Given the description of an element on the screen output the (x, y) to click on. 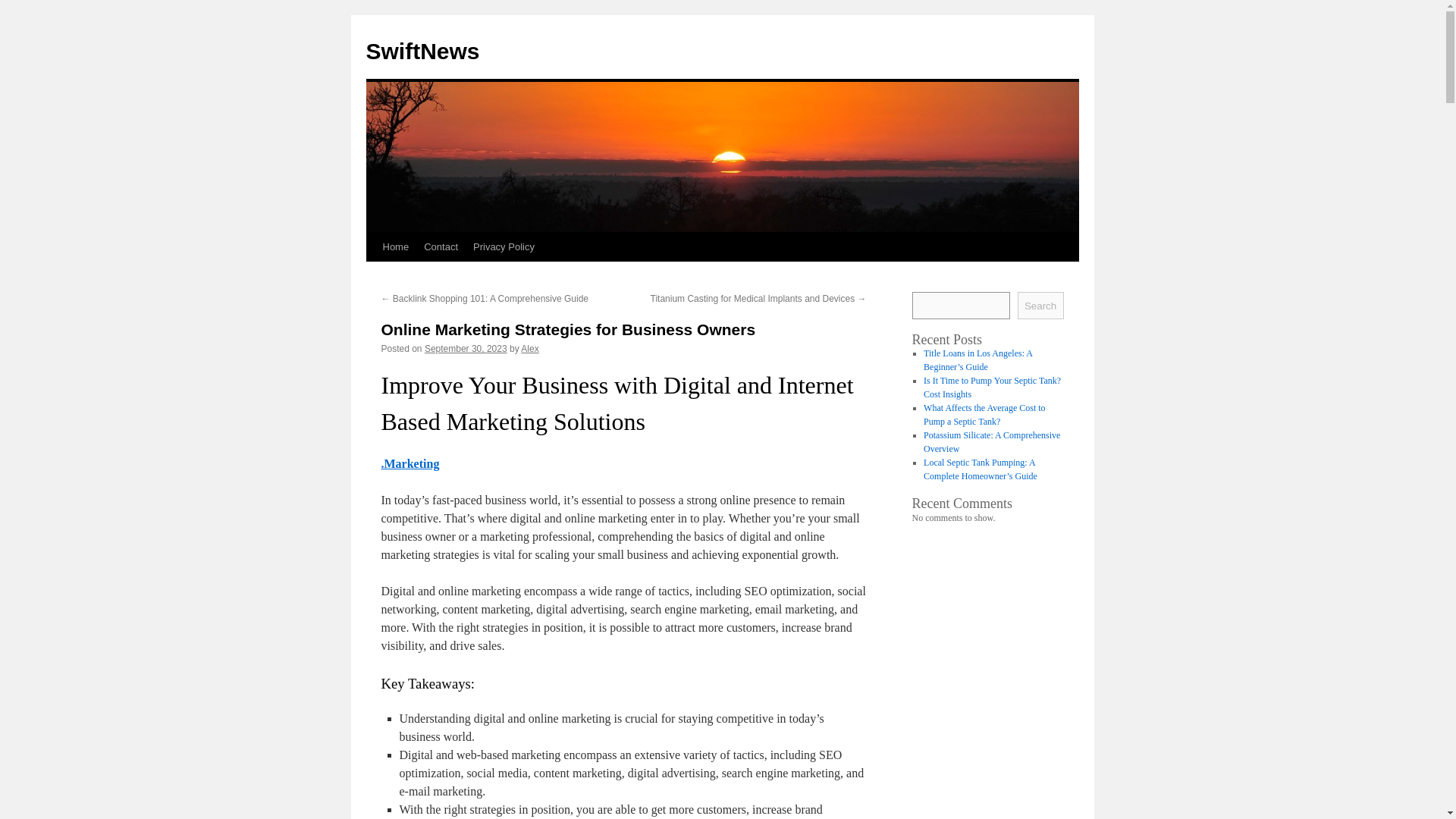
Search (1040, 305)
September 30, 2023 (465, 348)
6:44 am (465, 348)
Potassium Silicate: A Comprehensive Overview (991, 441)
Contact (440, 246)
Home (395, 246)
View all posts by Alex (529, 348)
.Marketing (409, 463)
What Affects the Average Cost to Pump a Septic Tank? (984, 414)
Alex (529, 348)
